Given the description of an element on the screen output the (x, y) to click on. 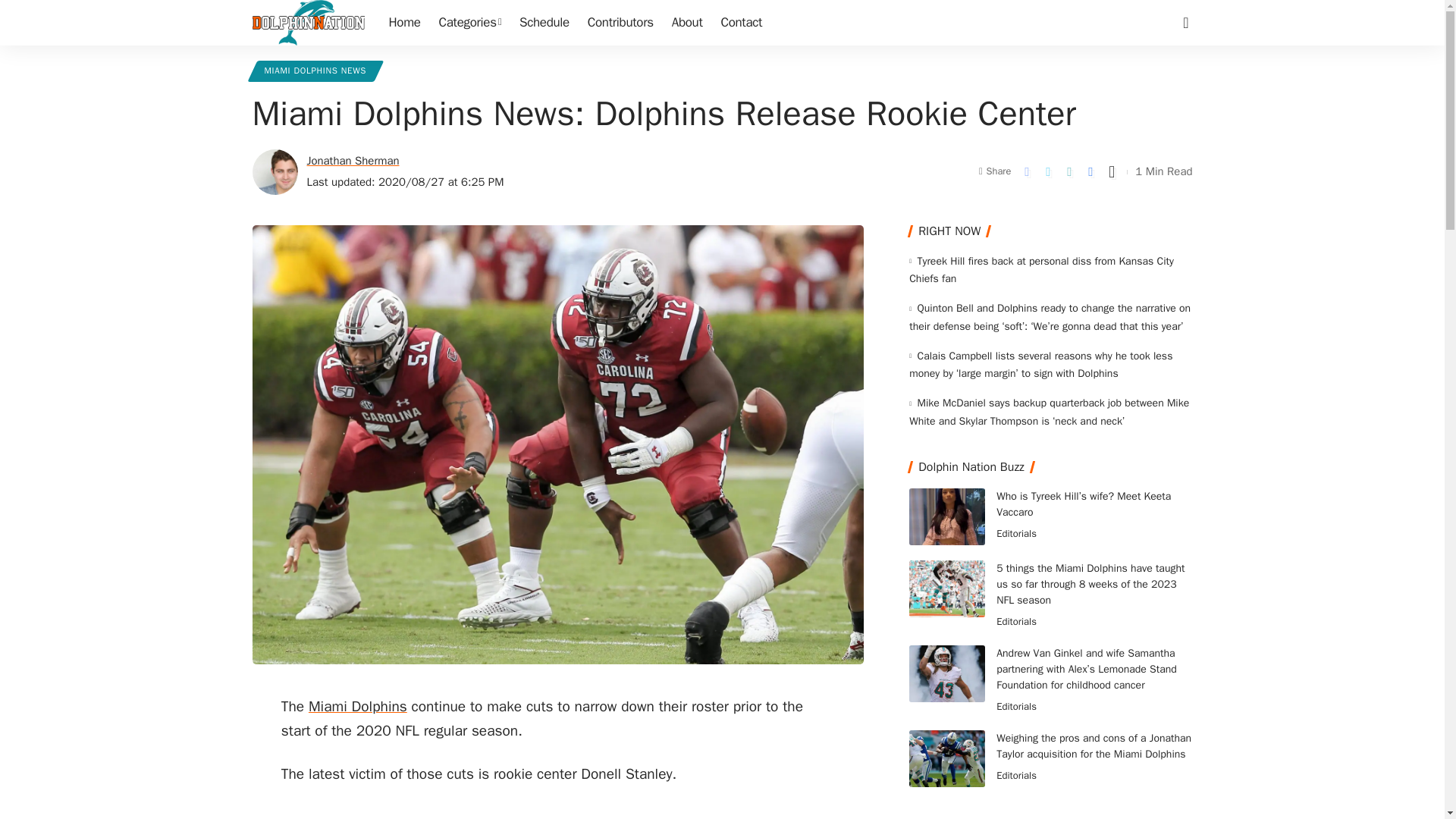
Contributors (620, 22)
Contact (741, 22)
Schedule (544, 22)
MIAMI DOLPHINS NEWS (314, 70)
Home (403, 22)
Miami Dolphins (357, 706)
Miami Dolphins (357, 706)
Jonathan Sherman (351, 160)
